Given the description of an element on the screen output the (x, y) to click on. 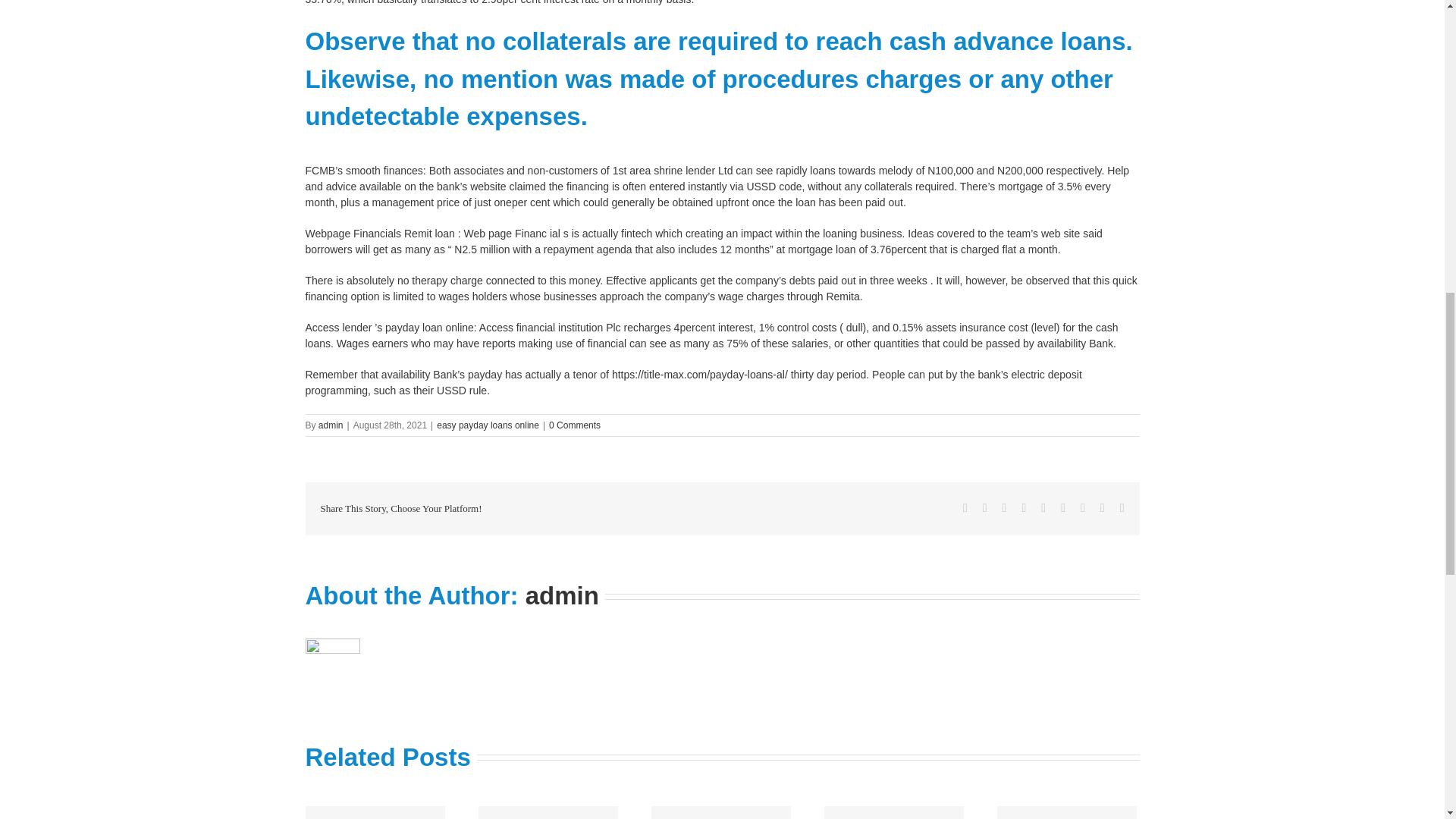
Posts by admin (330, 425)
admin (330, 425)
easy payday loans online (487, 425)
Posts by admin (561, 595)
admin (561, 595)
0 Comments (573, 425)
